Given the description of an element on the screen output the (x, y) to click on. 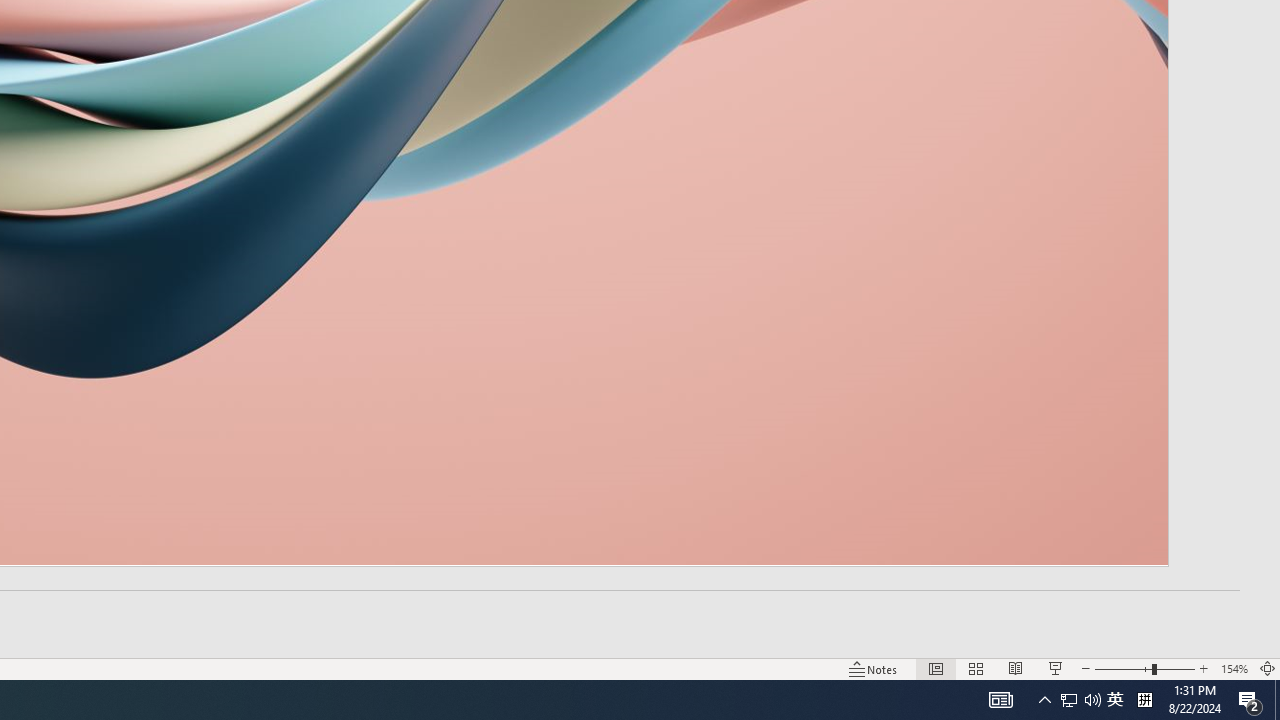
Zoom 154% (1234, 668)
